Given the description of an element on the screen output the (x, y) to click on. 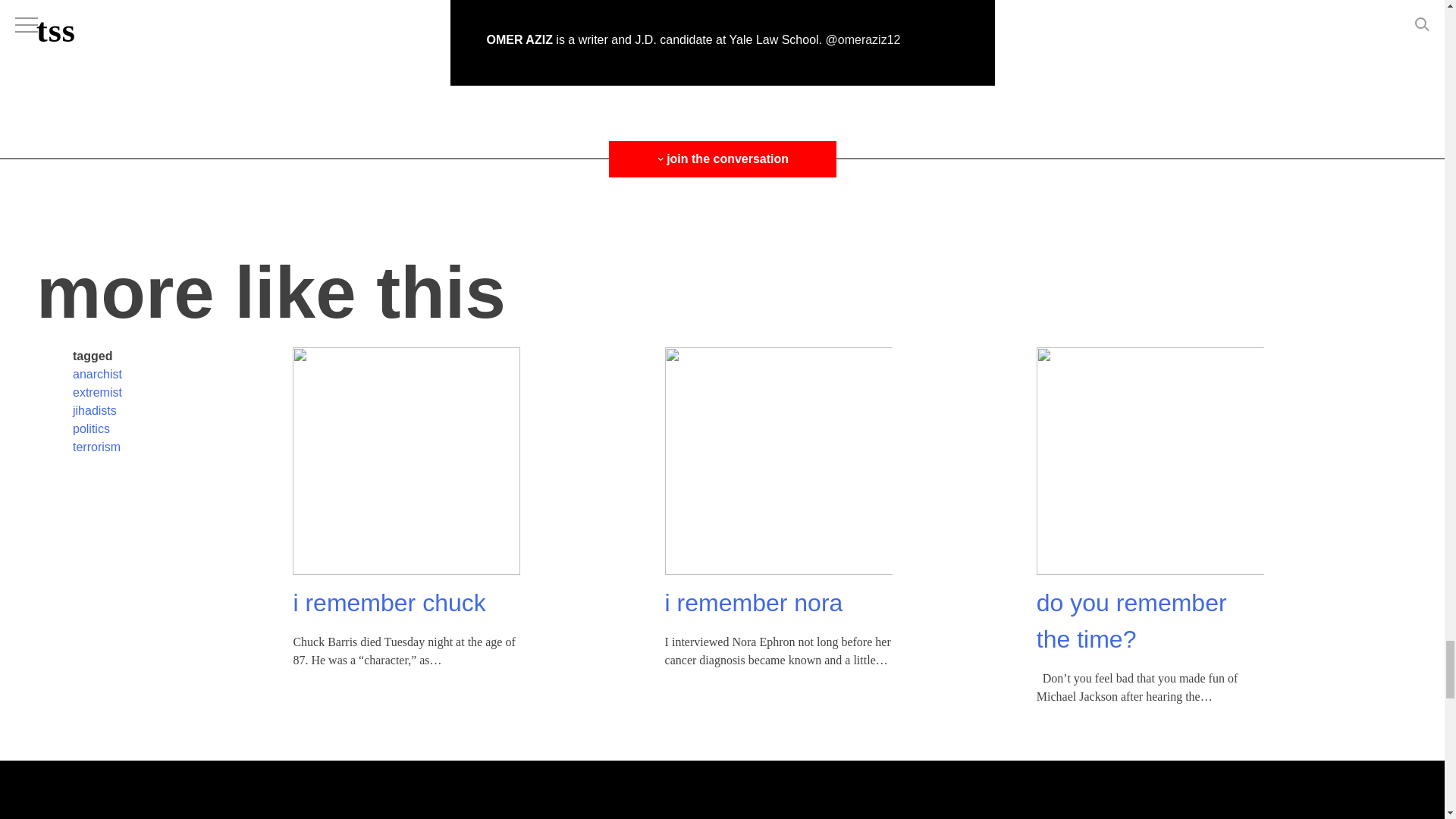
jihadists (94, 410)
anarchist (97, 373)
extremist (97, 391)
do you remember the time? (1131, 620)
i remember chuck (388, 602)
i remember nora (754, 602)
politics (91, 428)
